Given the description of an element on the screen output the (x, y) to click on. 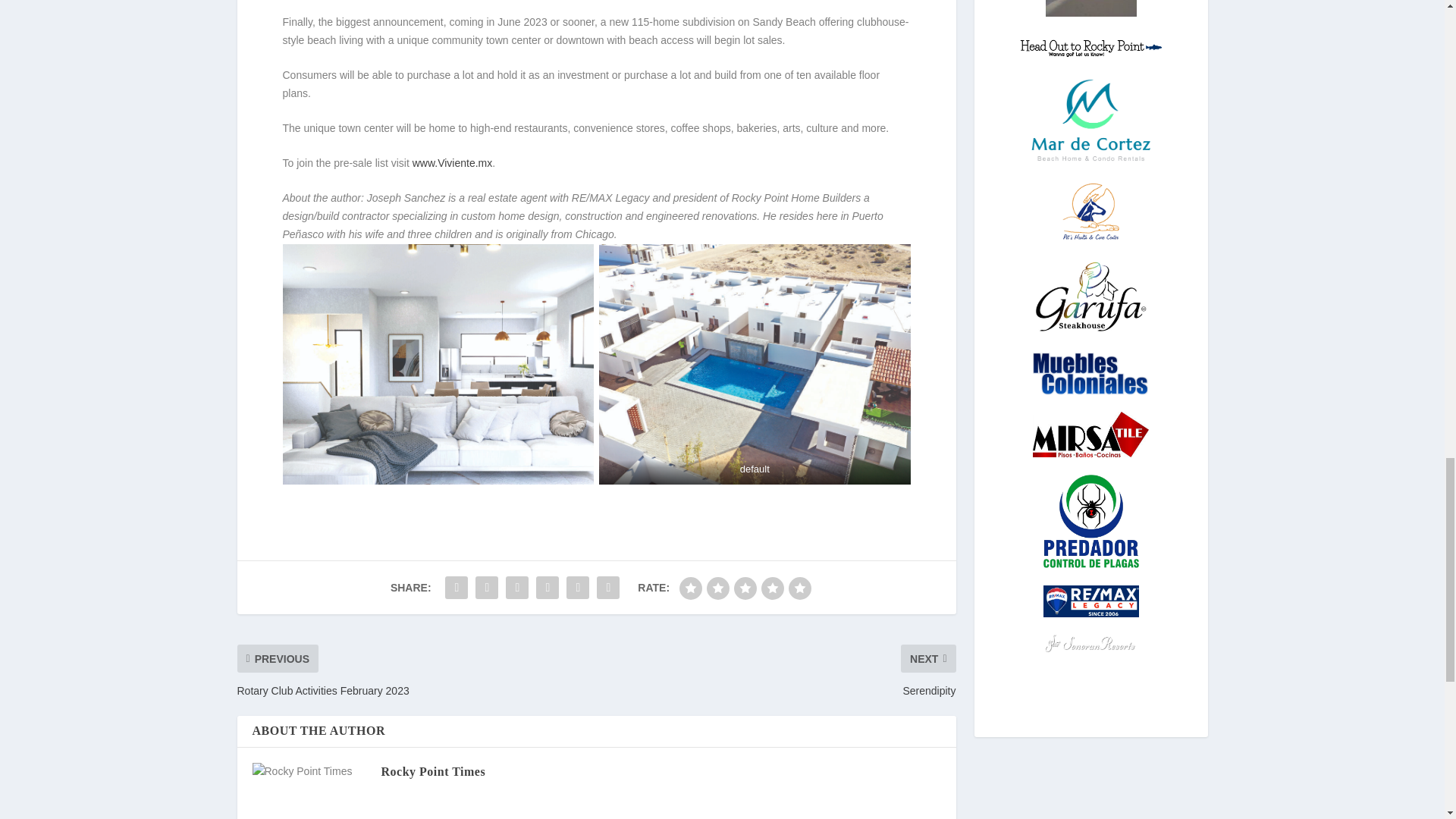
View all posts by Rocky Point Times (432, 771)
gorgeous (799, 588)
regular (745, 588)
good (772, 588)
bad (690, 588)
